Given the description of an element on the screen output the (x, y) to click on. 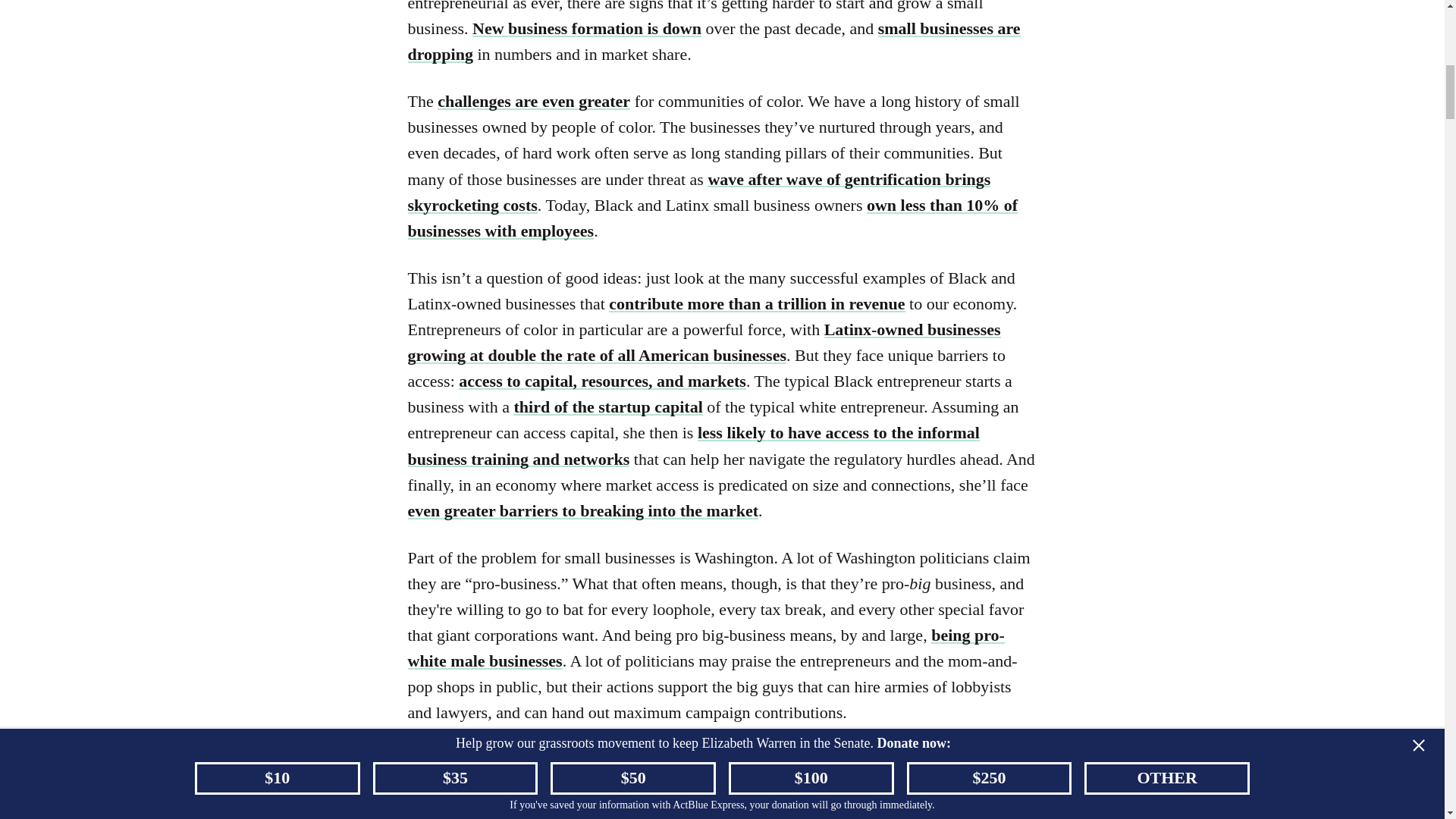
small businesses are dropping (713, 40)
being pro-white male businesses (705, 647)
wave after wave of gentrification brings skyrocketing costs (699, 191)
challenges are even greater (534, 100)
even greater barriers to breaking into the market (582, 510)
contribute more than a trillion in revenue (756, 303)
New business formation is down (586, 27)
access to capital, resources, and markets (601, 380)
third of the startup capital (607, 406)
